Given the description of an element on the screen output the (x, y) to click on. 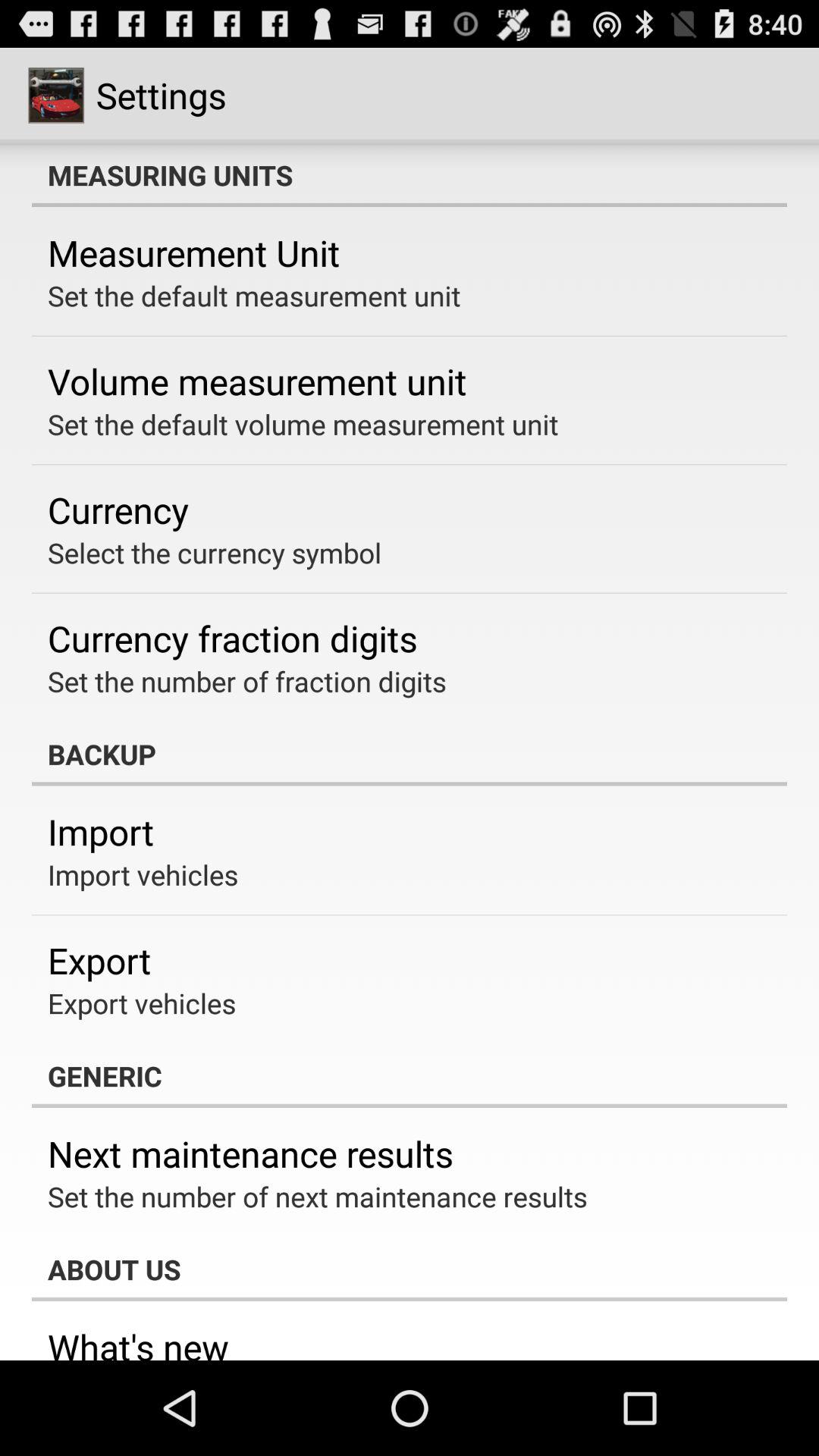
click the icon below the export vehicles (409, 1075)
